Given the description of an element on the screen output the (x, y) to click on. 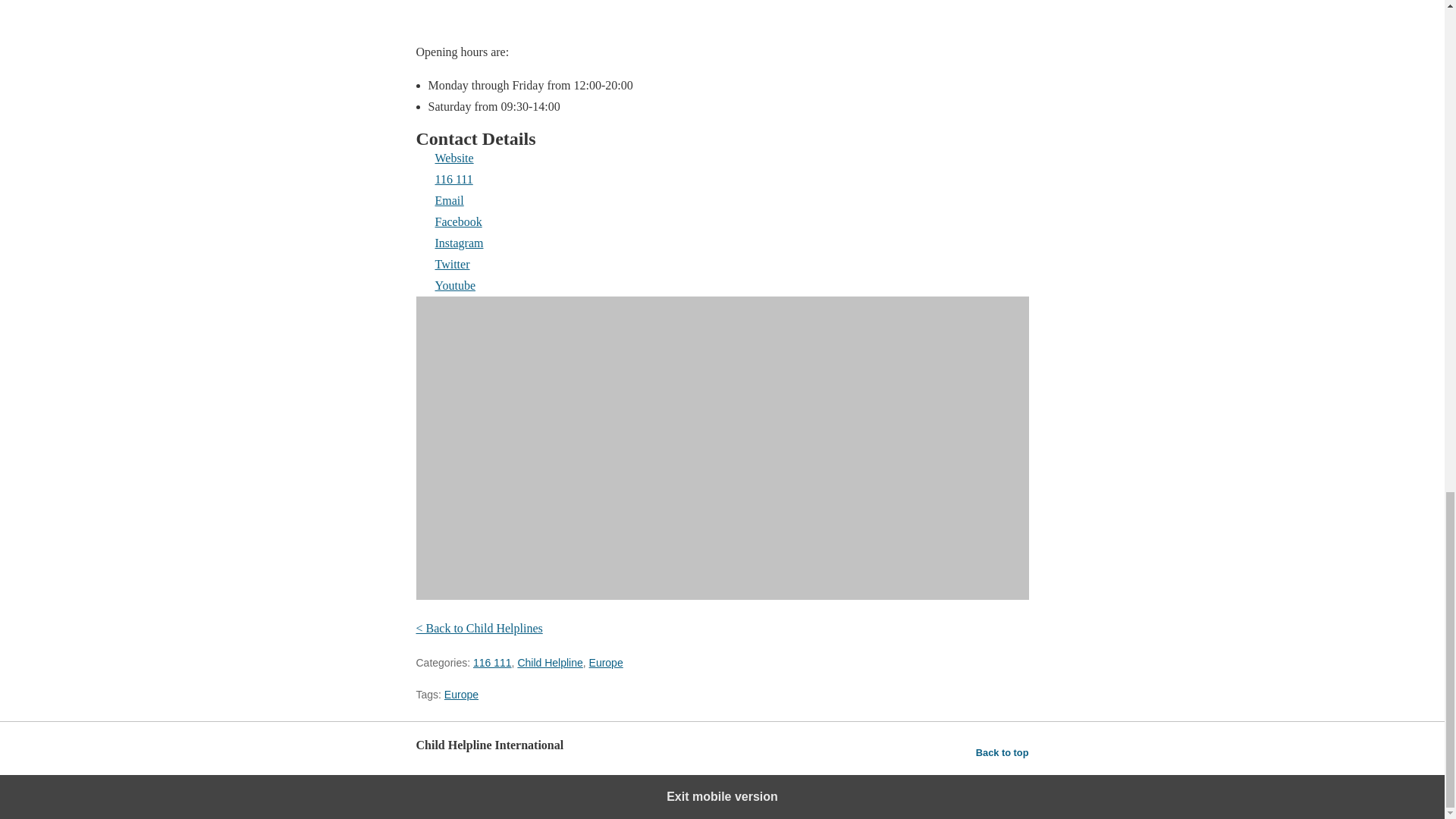
Youtube (720, 285)
Instagram (720, 242)
Child Helpline (549, 662)
Back to top (1002, 752)
Twitter (720, 264)
Facebook (720, 221)
Europe (606, 662)
Europe (461, 694)
116 111 (492, 662)
116 111 (720, 179)
